Given the description of an element on the screen output the (x, y) to click on. 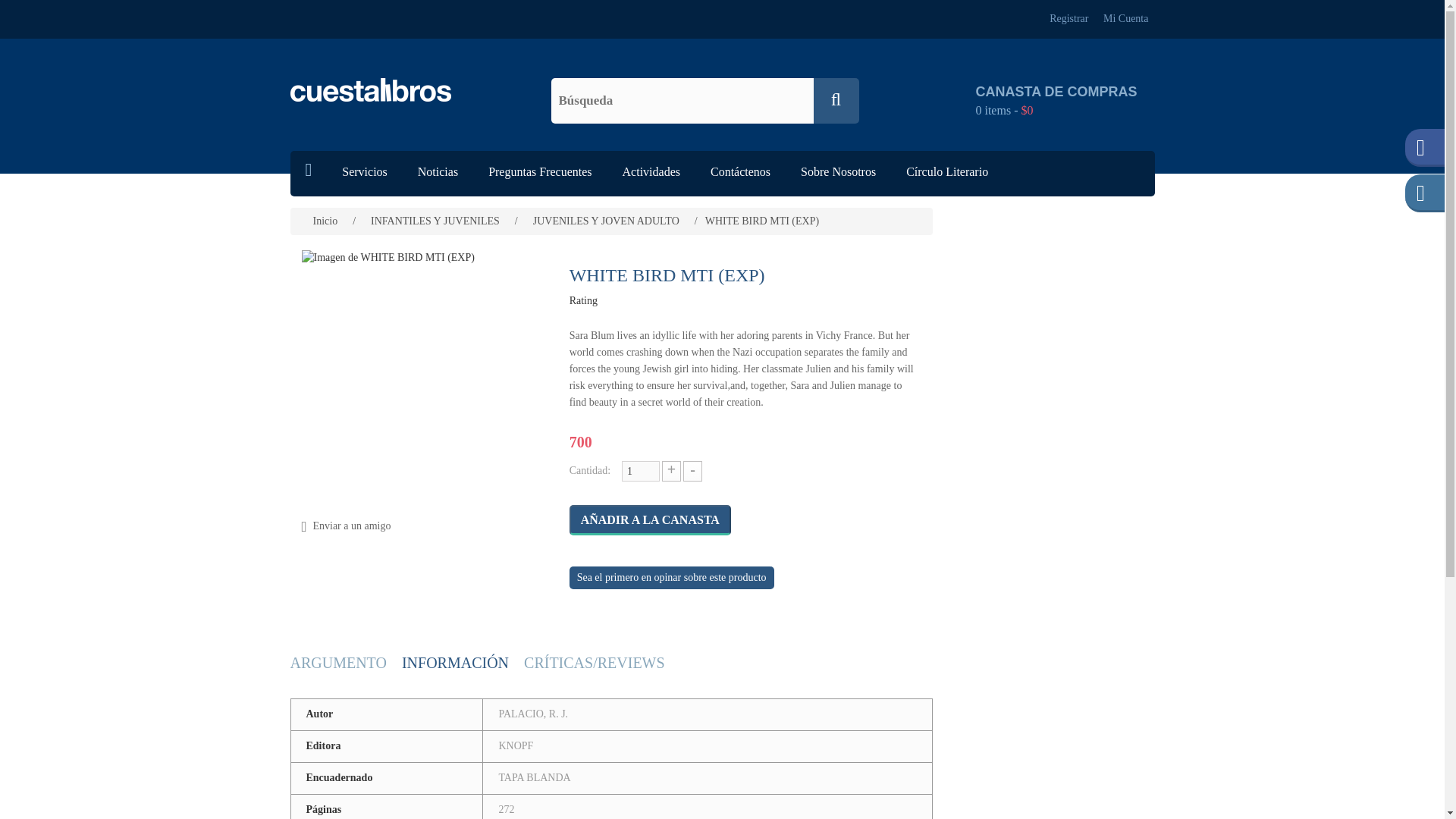
Registrar (1068, 19)
Actividades (651, 173)
Sobre Nosotros (838, 173)
Enviar a un amigo (351, 525)
Mi Cuenta (1125, 19)
1 (640, 471)
Buscar (835, 100)
Noticias (438, 173)
Preguntas Frecuentes (540, 173)
Servicios (364, 173)
